Given the description of an element on the screen output the (x, y) to click on. 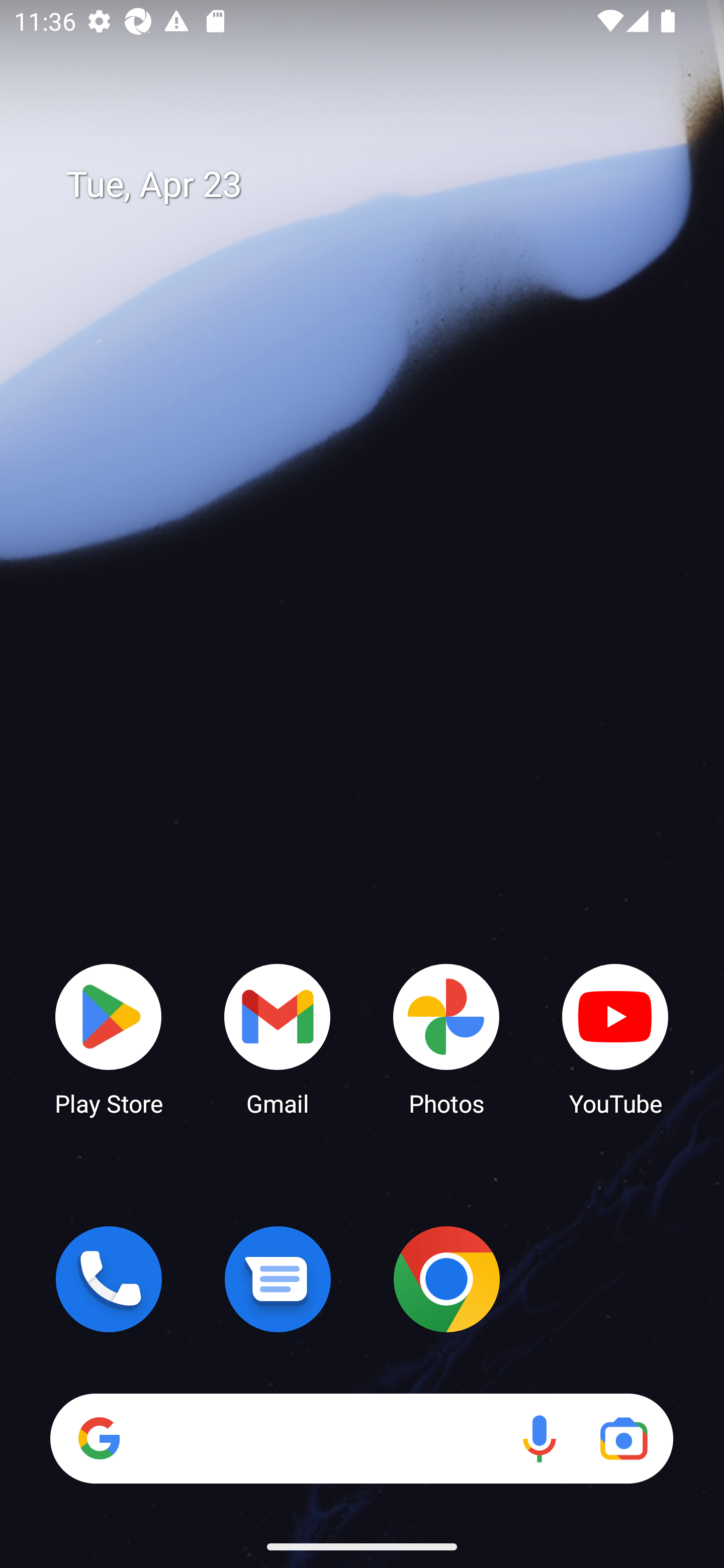
Tue, Apr 23 (375, 184)
Play Store (108, 1038)
Gmail (277, 1038)
Photos (445, 1038)
YouTube (615, 1038)
Phone (108, 1279)
Messages (277, 1279)
Chrome (446, 1279)
Search Voice search Google Lens (361, 1438)
Voice search (539, 1438)
Google Lens (623, 1438)
